Given the description of an element on the screen output the (x, y) to click on. 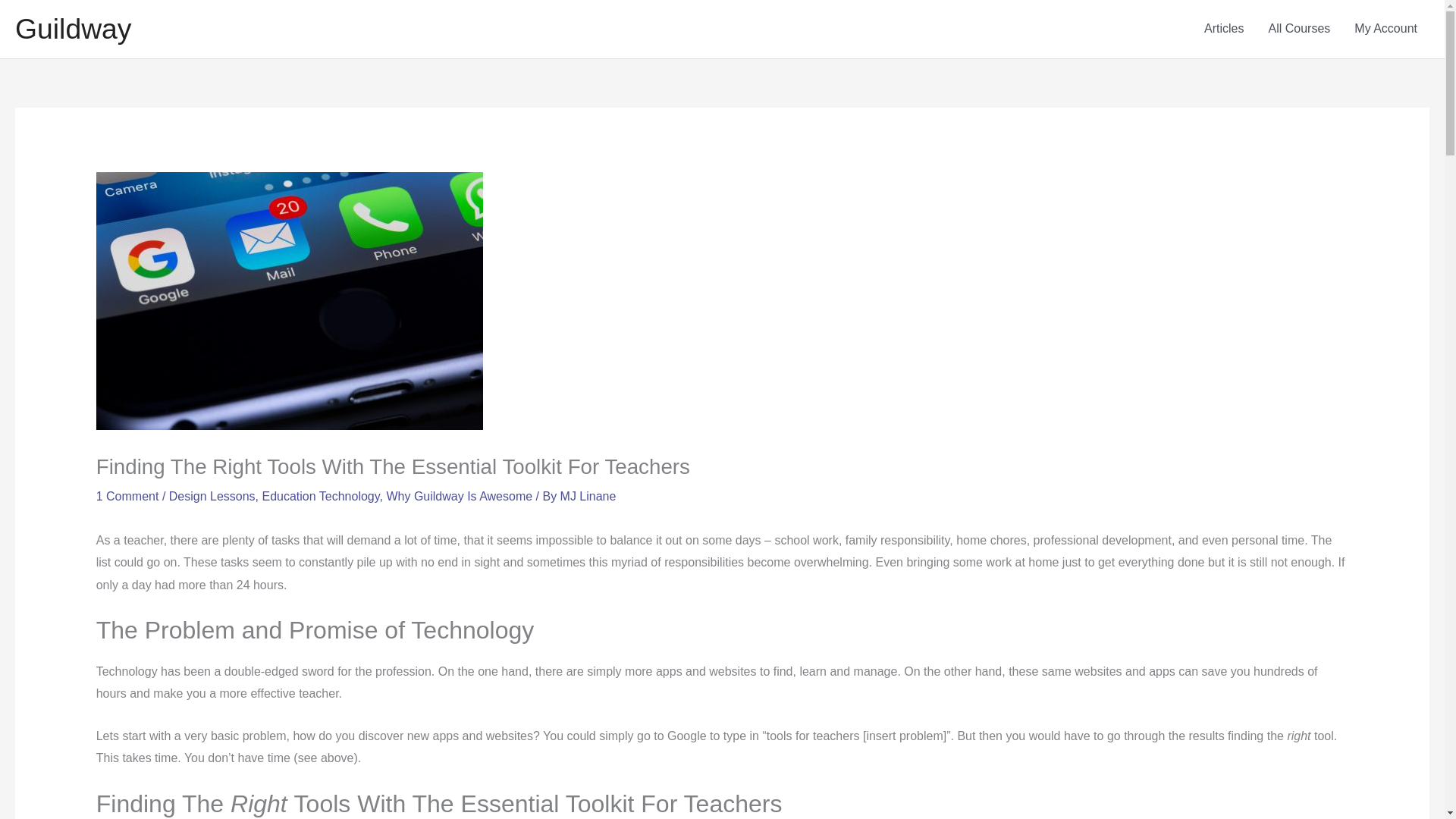
View all posts by MJ Linane (587, 495)
MJ Linane (587, 495)
Guildway (73, 29)
1 Comment (127, 495)
My Account (1385, 29)
Articles (1223, 29)
Education Technology (321, 495)
Why Guildway Is Awesome (458, 495)
Design Lessons (212, 495)
All Courses (1298, 29)
